Given the description of an element on the screen output the (x, y) to click on. 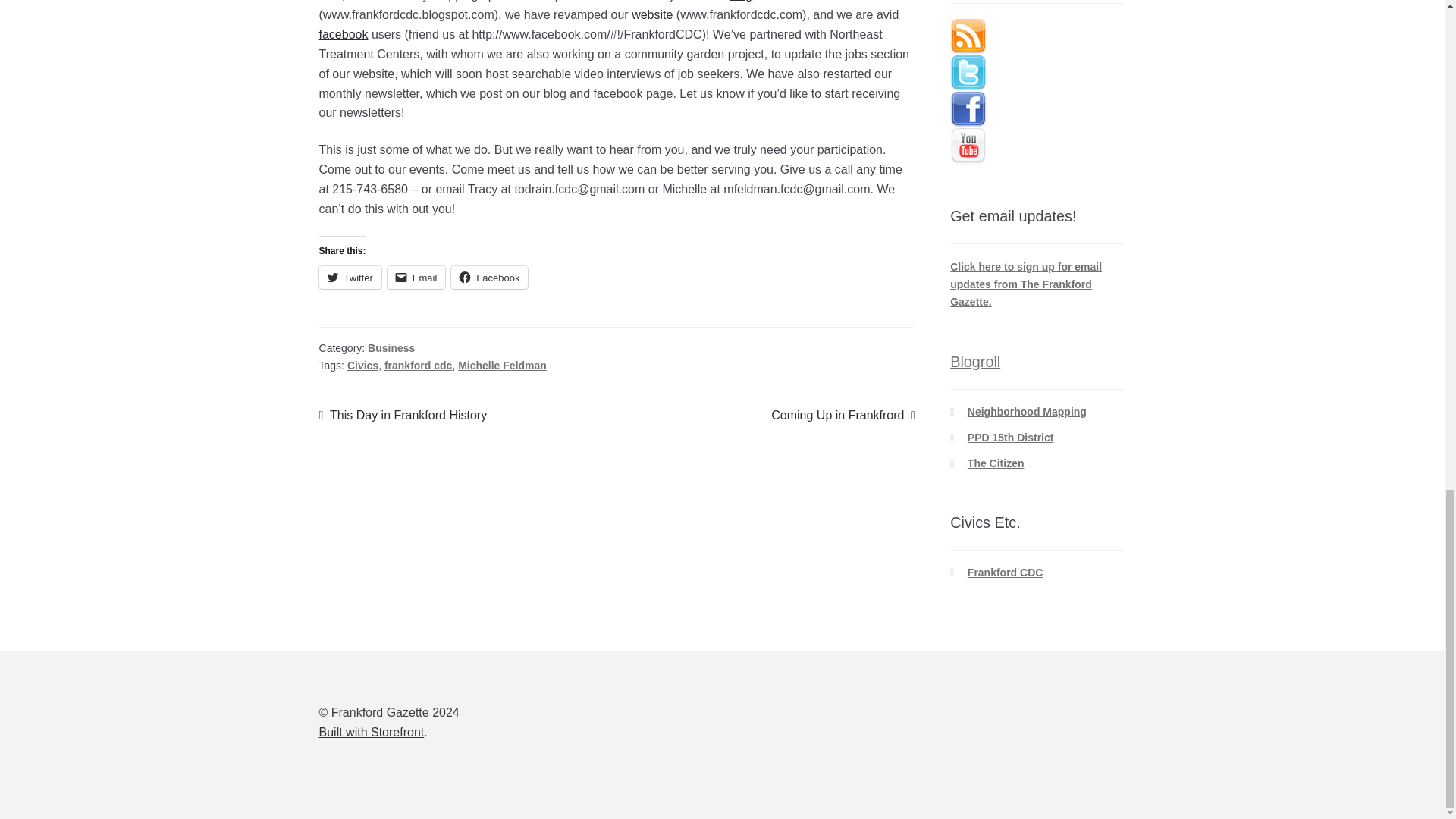
Click to email a link to a friend (416, 277)
Click to share on Twitter (349, 277)
blog (740, 0)
facebook (343, 33)
Philadelphia Police 15th district list of community meetings (1011, 437)
Frankford Community Development Corporation (1005, 572)
website (651, 14)
Facebook (489, 277)
Click to share on Facebook (489, 277)
Email (416, 277)
Twitter (349, 277)
What neighborhood am I in? (1027, 411)
